Given the description of an element on the screen output the (x, y) to click on. 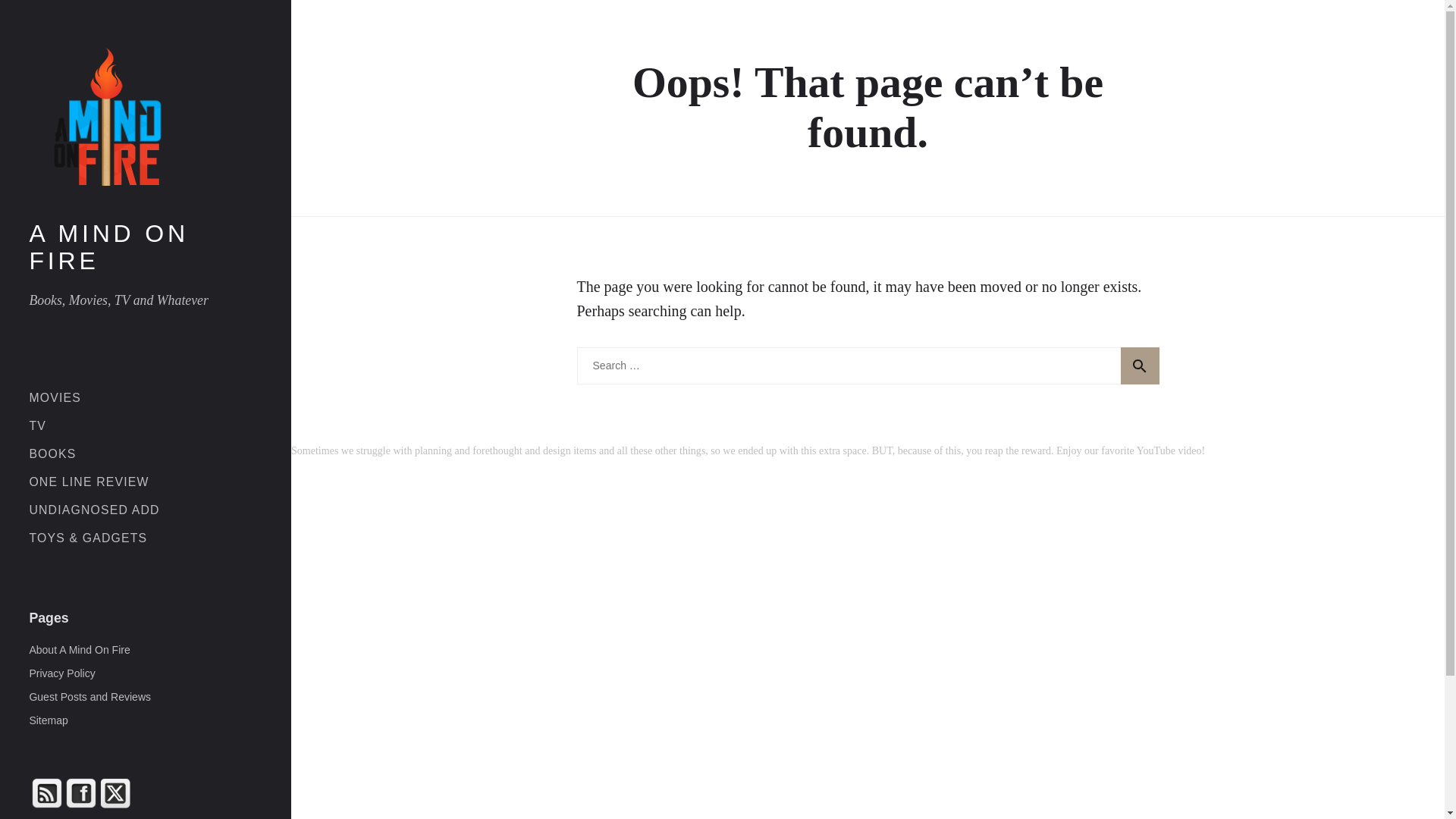
Twitter (115, 793)
Movie Reviews (55, 397)
About A Mind On Fire (79, 649)
Book Reviews On A Mind On Fire (52, 453)
MOVIES (55, 397)
BOOKS (52, 453)
Privacy Policy (61, 673)
Undiagnosed ADD (93, 510)
Sitemap (47, 720)
A MIND ON FIRE (145, 248)
Guest Posts and Reviews (90, 696)
UNDIAGNOSED ADD (93, 510)
Facebook (80, 793)
One Line Reviews (88, 481)
Search (1139, 365)
